Given the description of an element on the screen output the (x, y) to click on. 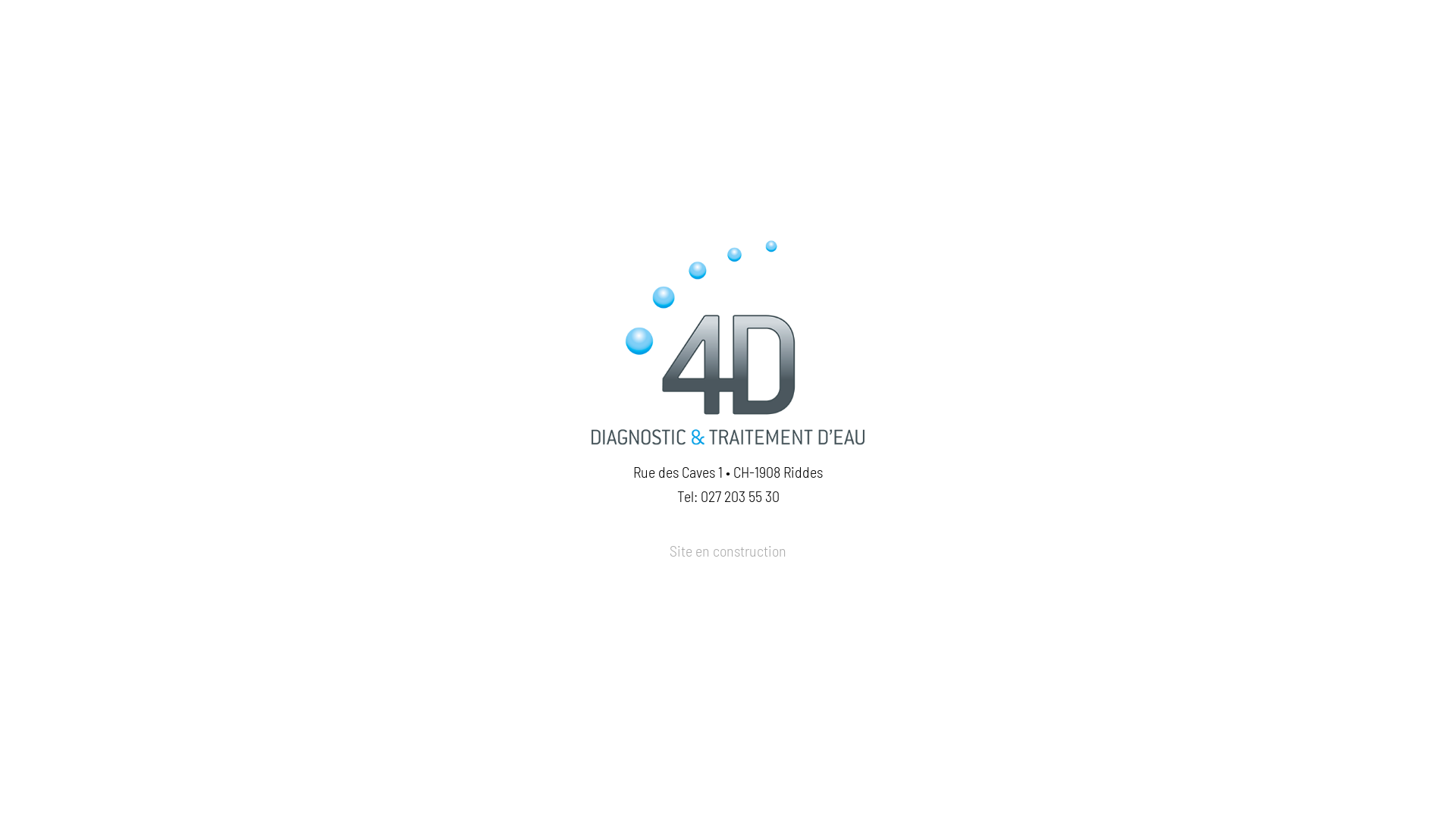
logo Element type: hover (727, 342)
027 203 55 30 Element type: text (739, 496)
